Given the description of an element on the screen output the (x, y) to click on. 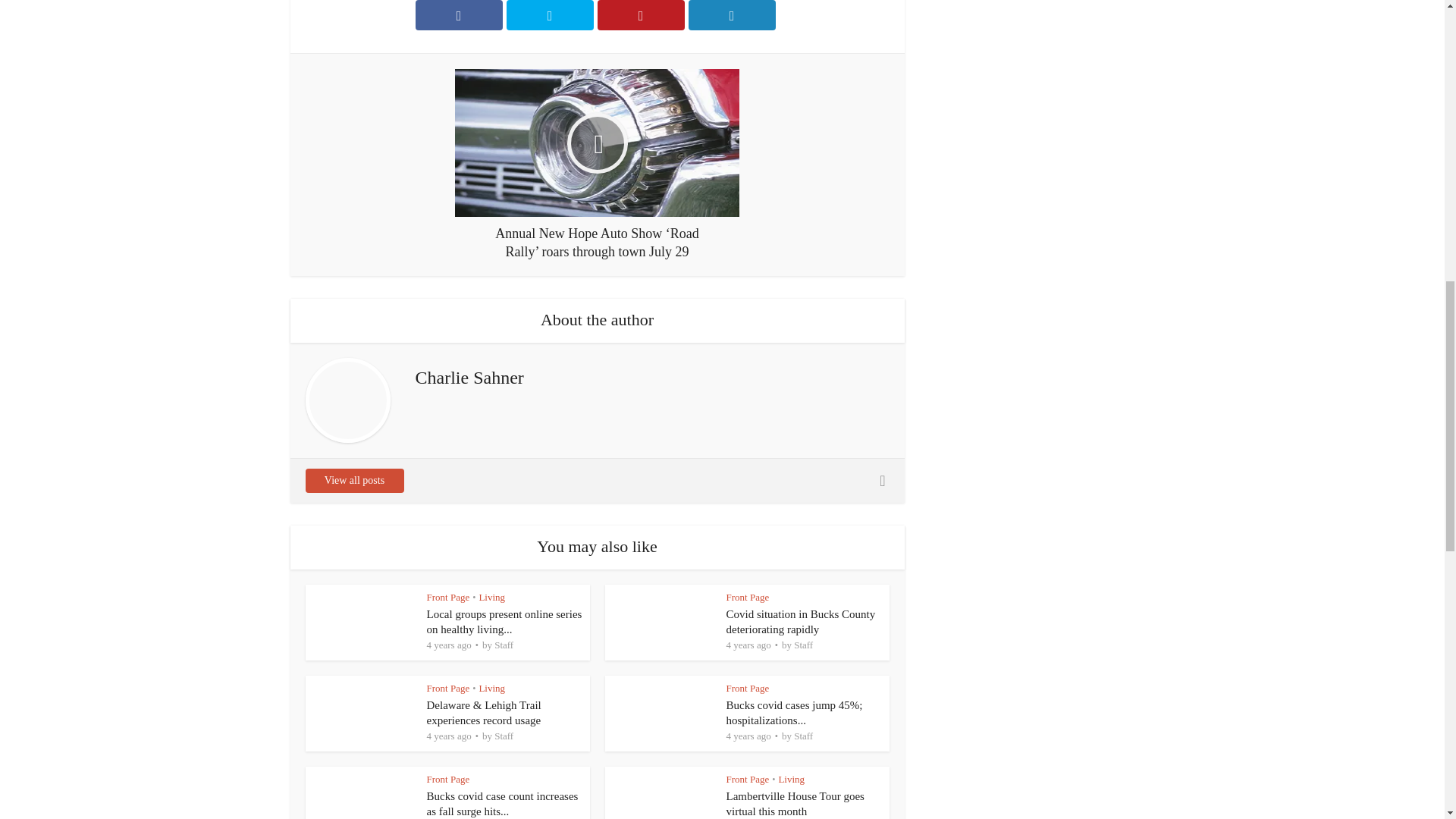
Front Page (748, 596)
Local groups present online series on healthy living... (503, 621)
Staff (802, 644)
View all posts (353, 480)
Staff (504, 735)
Lambertville House Tour goes virtual this month (795, 803)
Front Page (447, 596)
Covid situation in Bucks County deteriorating rapidly (801, 621)
Living (492, 596)
Living (492, 687)
Covid situation in Bucks County deteriorating rapidly (801, 621)
Front Page (447, 687)
Staff (504, 644)
